Given the description of an element on the screen output the (x, y) to click on. 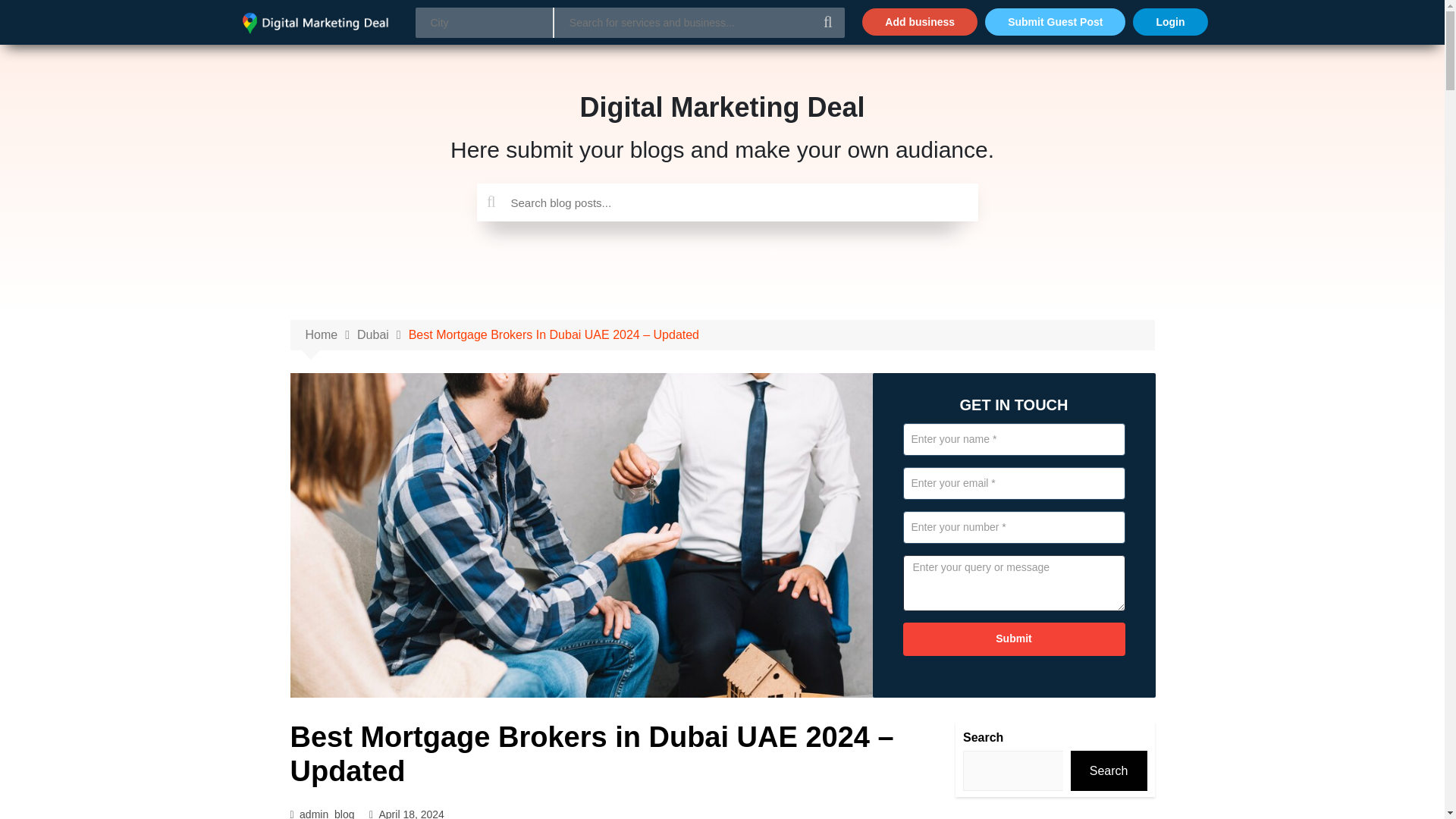
Dubai (382, 334)
Home (330, 334)
Login (1169, 22)
Submit Guest Post (1055, 22)
Add business (918, 22)
April 18, 2024 (411, 812)
Submit (1013, 639)
